Given the description of an element on the screen output the (x, y) to click on. 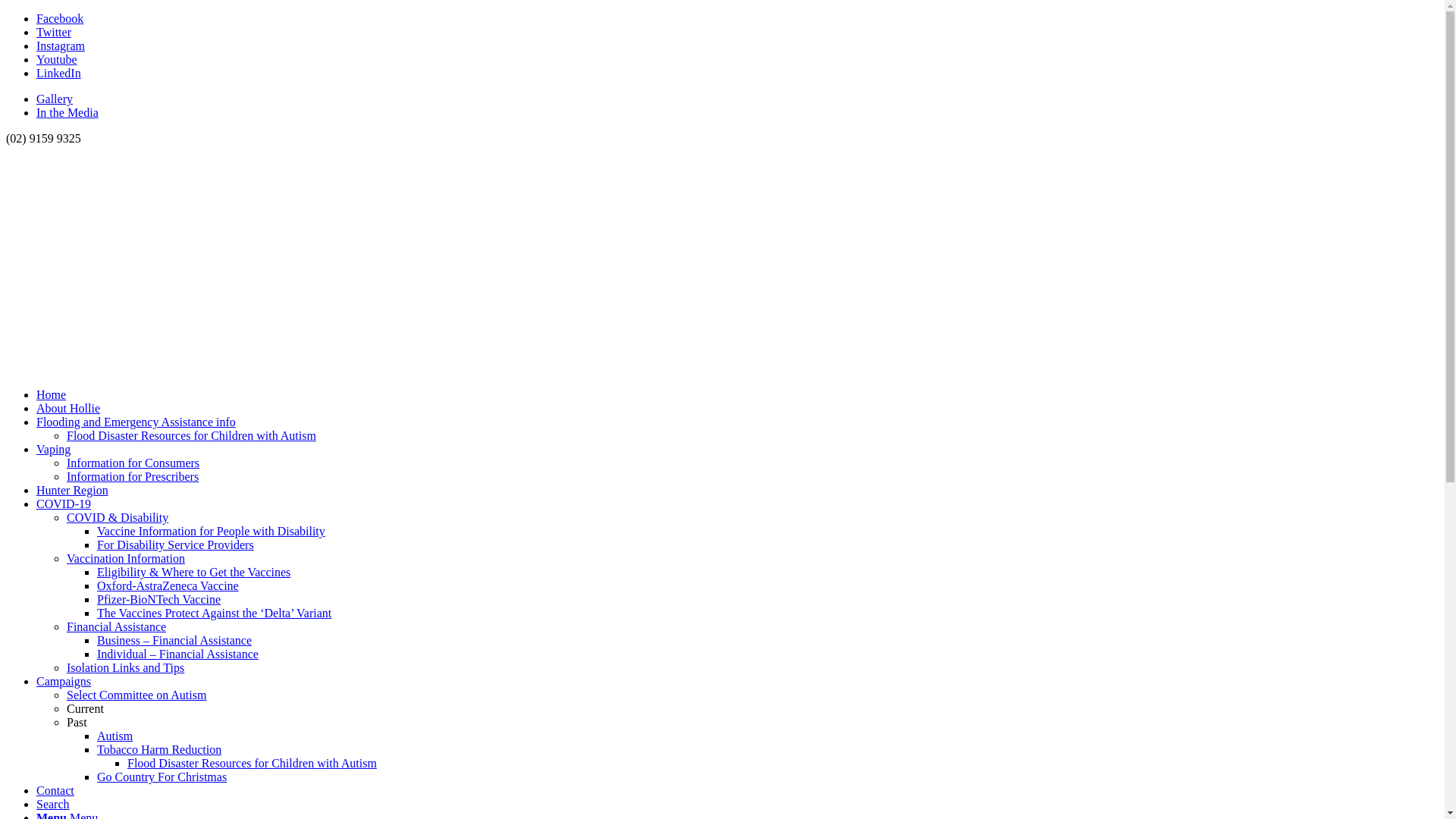
Financial Assistance Element type: text (116, 626)
Contact Element type: text (55, 790)
Vaccine Information for People with Disability Element type: text (211, 530)
Home Element type: text (50, 394)
Autism Element type: text (114, 735)
Eligibility & Where to Get the Vaccines Element type: text (193, 571)
COVID-19 Element type: text (63, 503)
Select Committee on Autism Element type: text (136, 694)
Flood Disaster Resources for Children with Autism Element type: text (191, 435)
Past Element type: text (76, 721)
LinkedIn Element type: text (58, 72)
About Hollie Element type: text (68, 407)
In the Media Element type: text (67, 112)
Pfizer-BioNTech Vaccine Element type: text (158, 599)
Facebook Element type: text (59, 18)
Gallery Element type: text (54, 98)
Twitter Element type: text (53, 31)
Instagram Element type: text (60, 45)
Information for Consumers Element type: text (132, 462)
Information for Prescribers Element type: text (132, 476)
For Disability Service Providers Element type: text (175, 544)
Hunter Region Element type: text (72, 489)
Isolation Links and Tips Element type: text (125, 667)
Youtube Element type: text (56, 59)
Vaccination Information Element type: text (125, 558)
Vaping Element type: text (53, 448)
Tobacco Harm Reduction Element type: text (159, 749)
Go Country For Christmas Element type: text (161, 776)
Flooding and Emergency Assistance info Element type: text (135, 421)
Flood Disaster Resources for Children with Autism Element type: text (251, 762)
Search Element type: text (52, 803)
Campaigns Element type: text (63, 680)
Current Element type: text (84, 708)
COVID & Disability Element type: text (117, 517)
Oxford-AstraZeneca Vaccine Element type: text (167, 585)
